Given the description of an element on the screen output the (x, y) to click on. 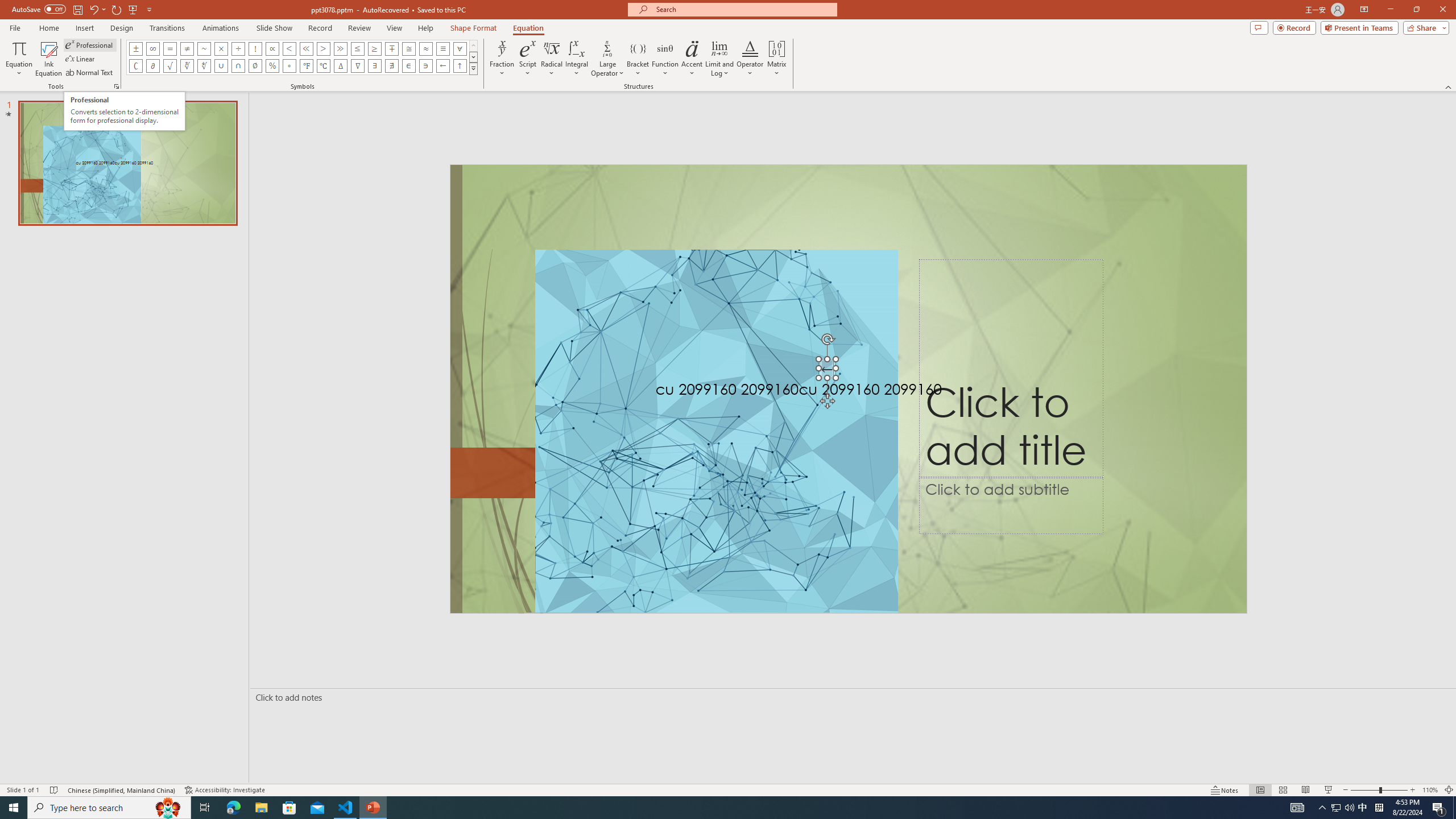
Integral (576, 58)
Operator (749, 58)
Equation Symbol Percentage (272, 65)
Equation Symbol Plus Minus (136, 48)
Large Operator (607, 58)
Equation Symbol Element Of (408, 65)
Equation (18, 58)
Equation Symbol Almost Equal To (Asymptotic To) (425, 48)
Equation Symbol Empty Set (255, 65)
Equation Symbol For All (459, 48)
